Given the description of an element on the screen output the (x, y) to click on. 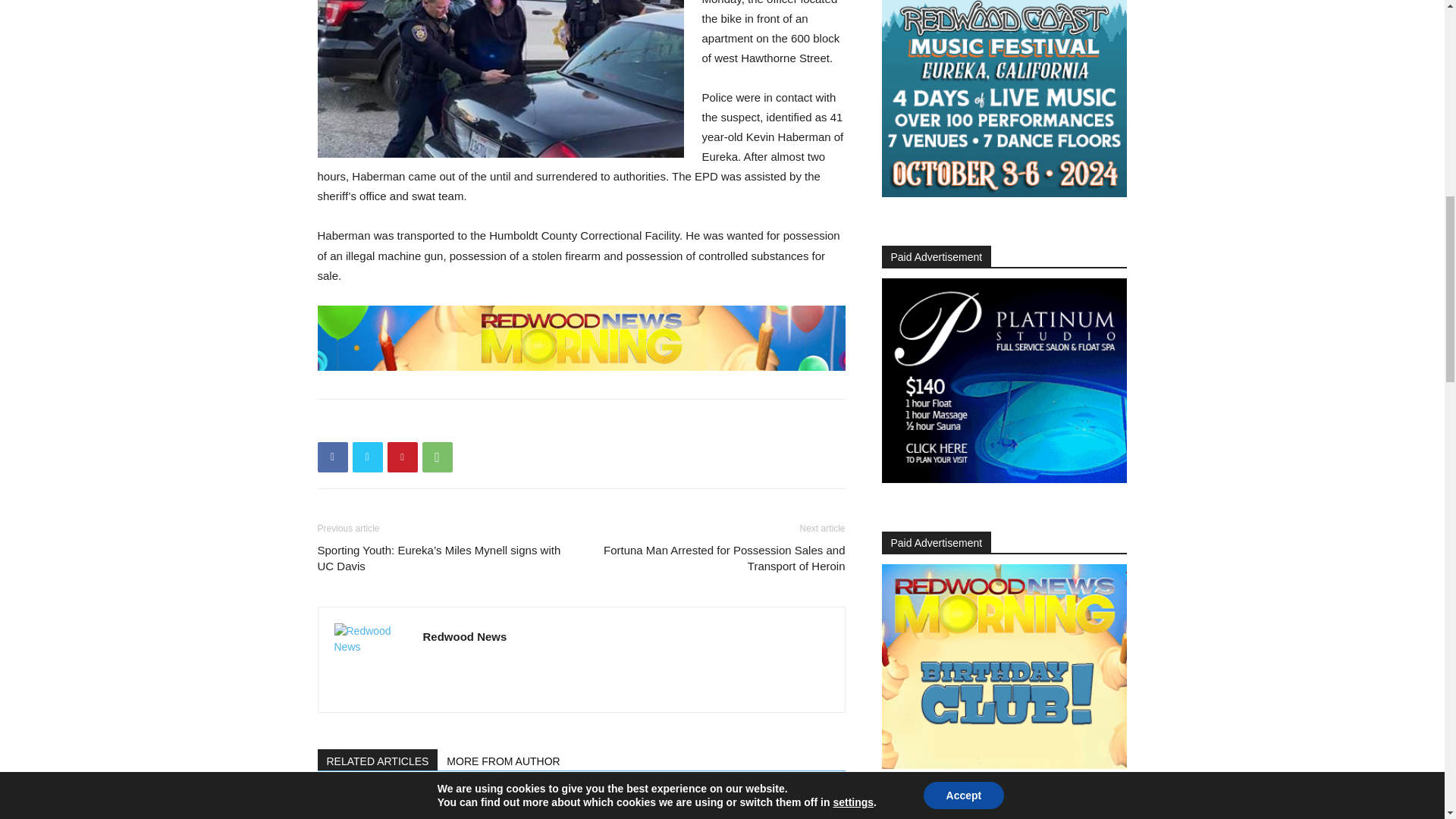
Facebook (332, 457)
Twitter (366, 457)
Pinterest (401, 457)
bottomFacebookLike (430, 423)
